Given the description of an element on the screen output the (x, y) to click on. 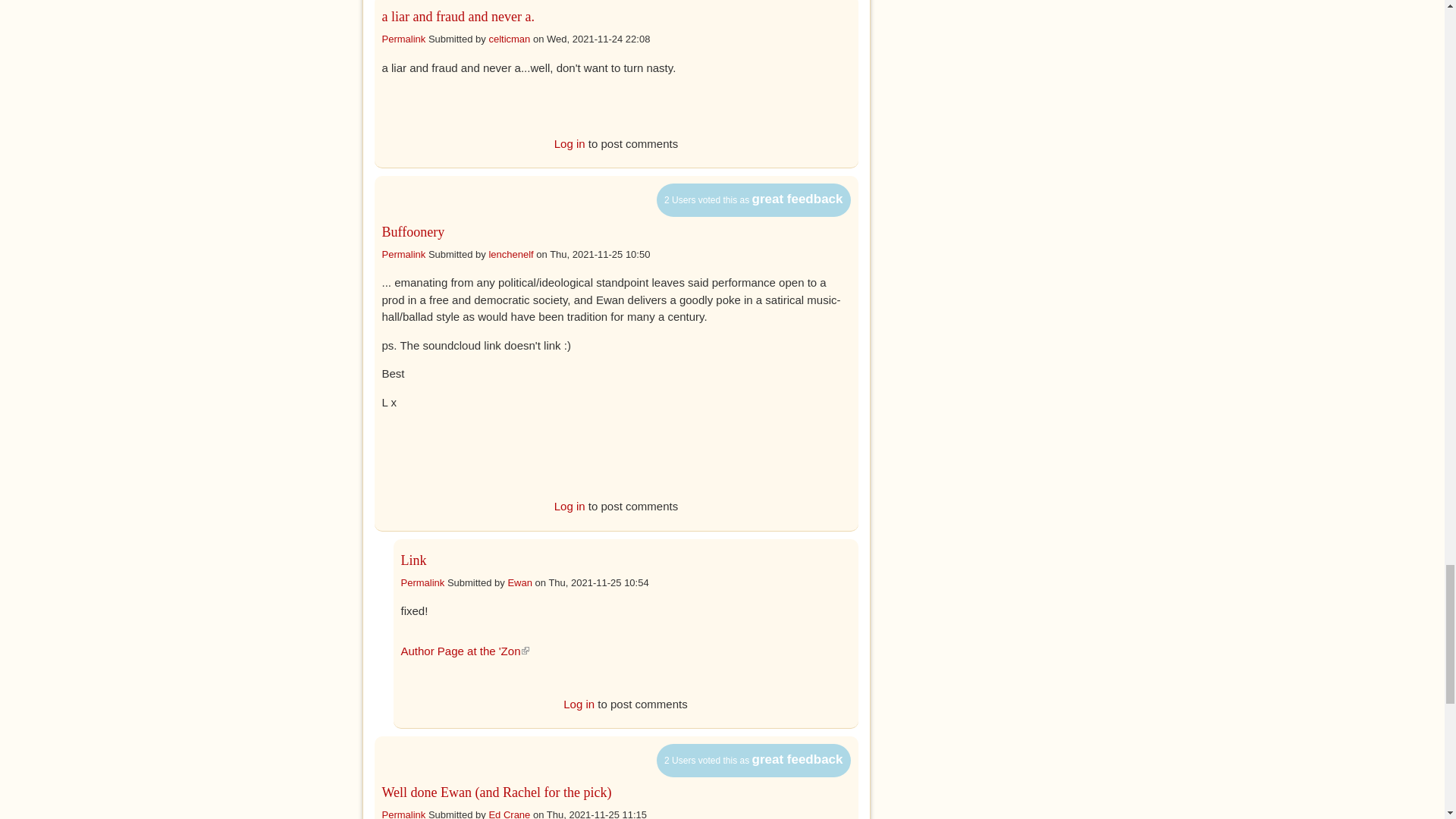
View user profile. (508, 39)
View user profile. (519, 582)
View user profile. (509, 254)
